Given the description of an element on the screen output the (x, y) to click on. 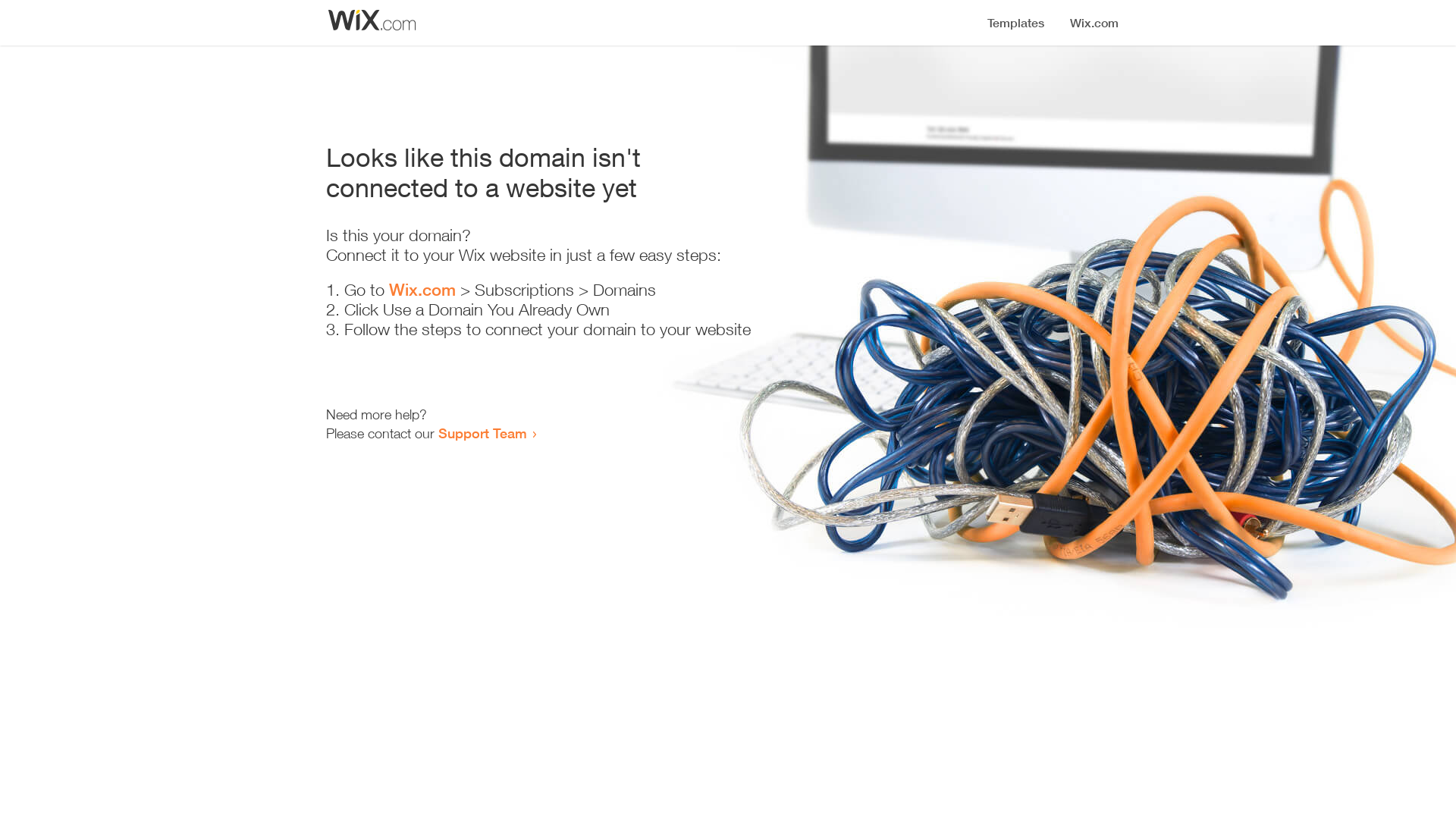
Wix.com Element type: text (422, 289)
Support Team Element type: text (482, 432)
